Given the description of an element on the screen output the (x, y) to click on. 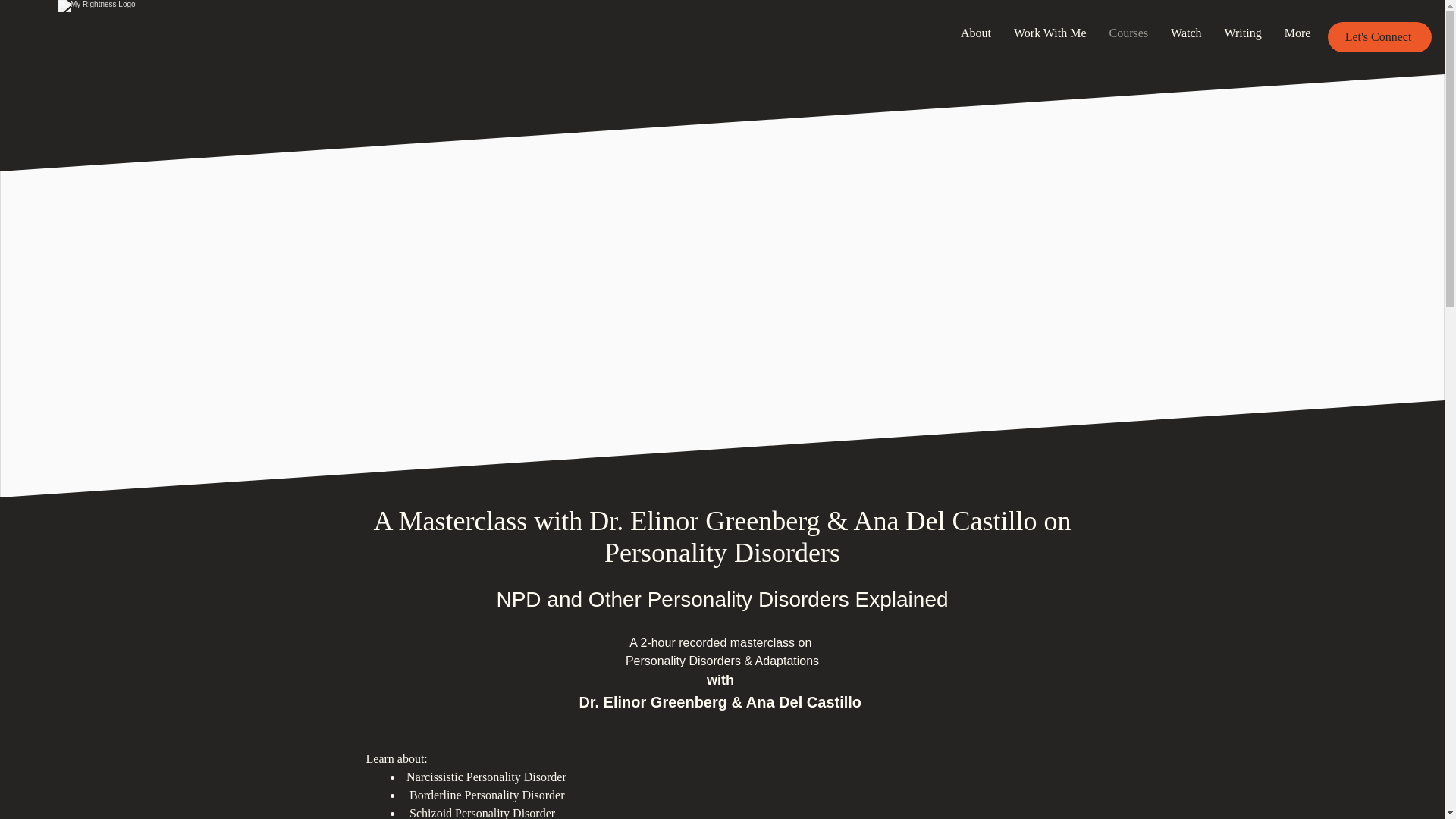
Writing (1242, 36)
About (976, 36)
Courses (1128, 36)
Work With Me (1050, 36)
Let's Connect (1379, 37)
Welcome (124, 37)
Watch (1185, 36)
